Given the description of an element on the screen output the (x, y) to click on. 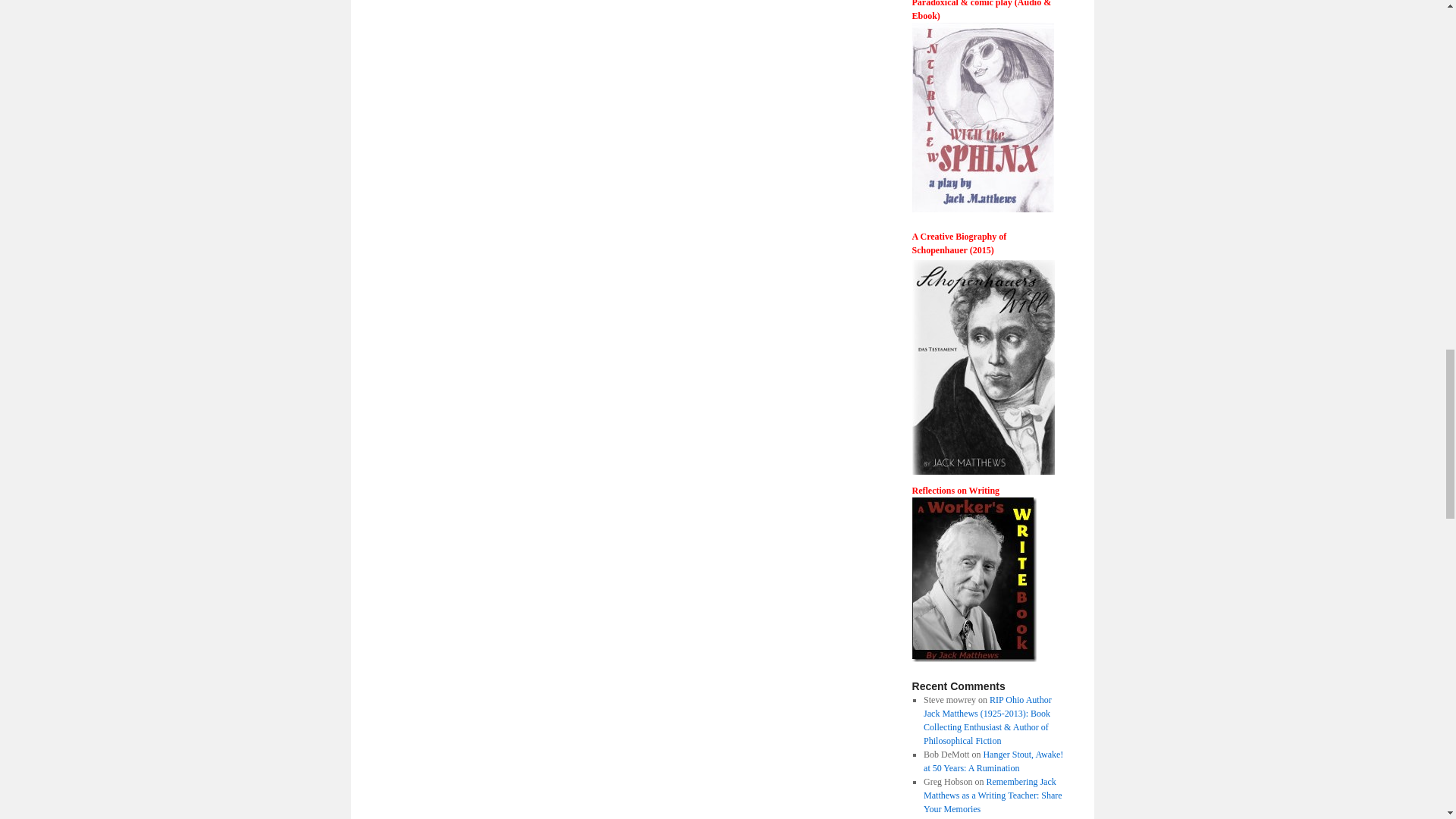
Hanger Stout, Awake! at 50 Years: A Rumination (992, 761)
